Given the description of an element on the screen output the (x, y) to click on. 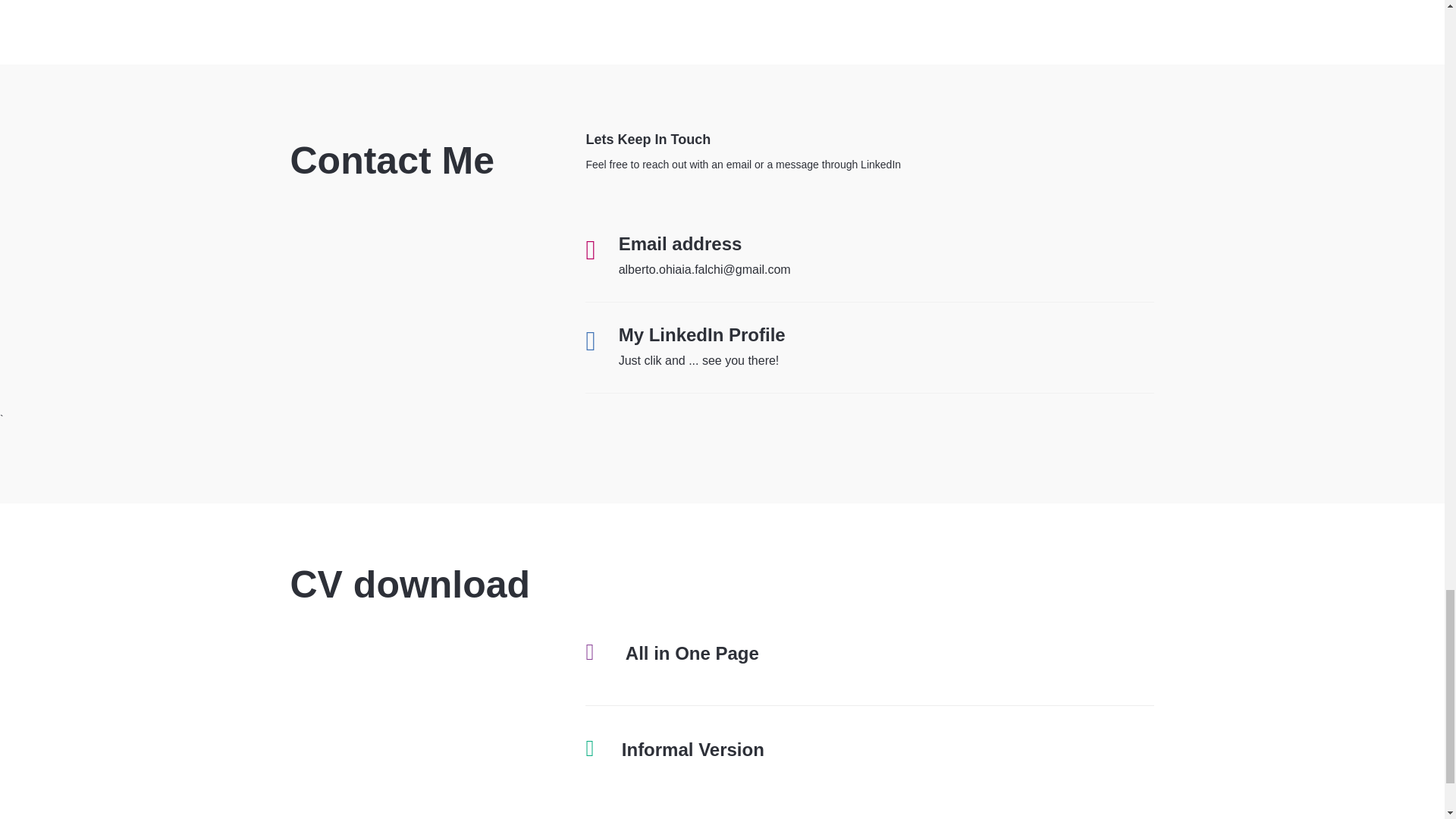
Just clik and ... see you there! (698, 359)
All in One Page (692, 652)
Informal Version (692, 749)
All in One Page (692, 652)
Informal Version (692, 749)
